Given the description of an element on the screen output the (x, y) to click on. 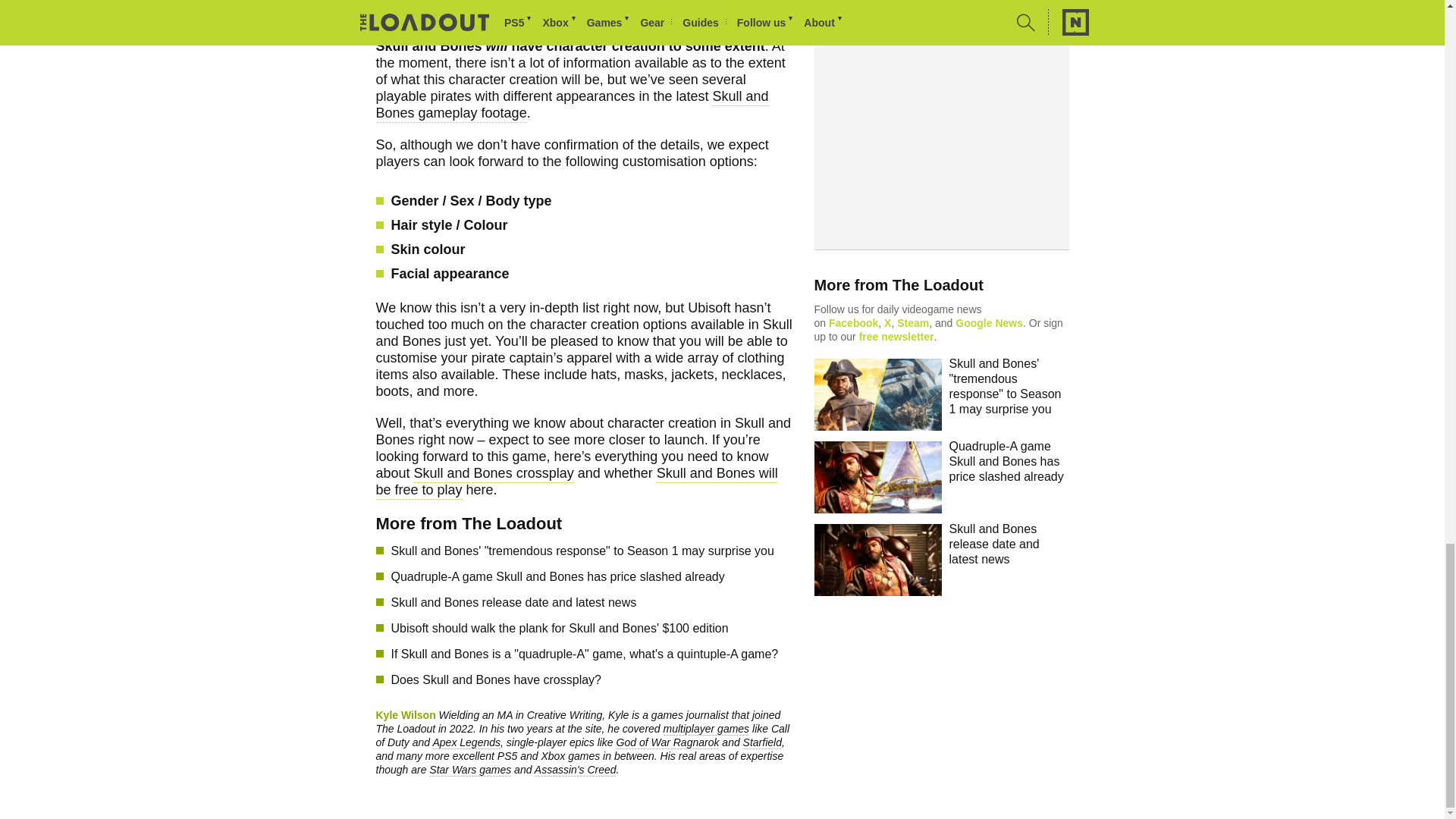
Quadruple-A game Skull and Bones has price slashed already (592, 577)
Skull and Bones release date and latest news (592, 602)
